Given the description of an element on the screen output the (x, y) to click on. 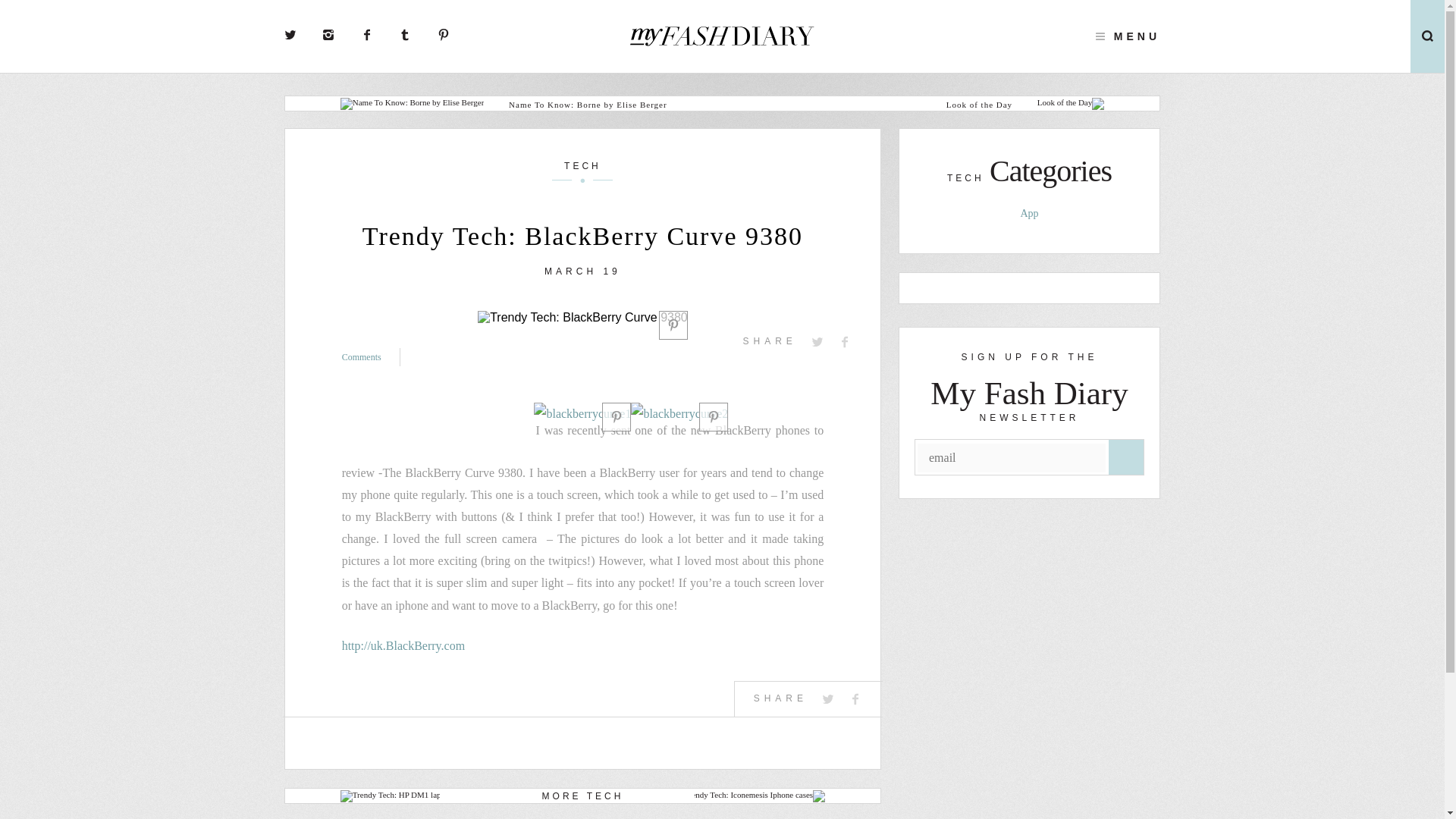
Name To Know: Borne by Elise Berger (623, 103)
Comments (371, 357)
App (1029, 213)
blackberrycurve1 (582, 413)
Look of the Day (897, 103)
MORE TECH (582, 796)
blackberrycurve2 (679, 413)
TECH (582, 170)
